Given the description of an element on the screen output the (x, y) to click on. 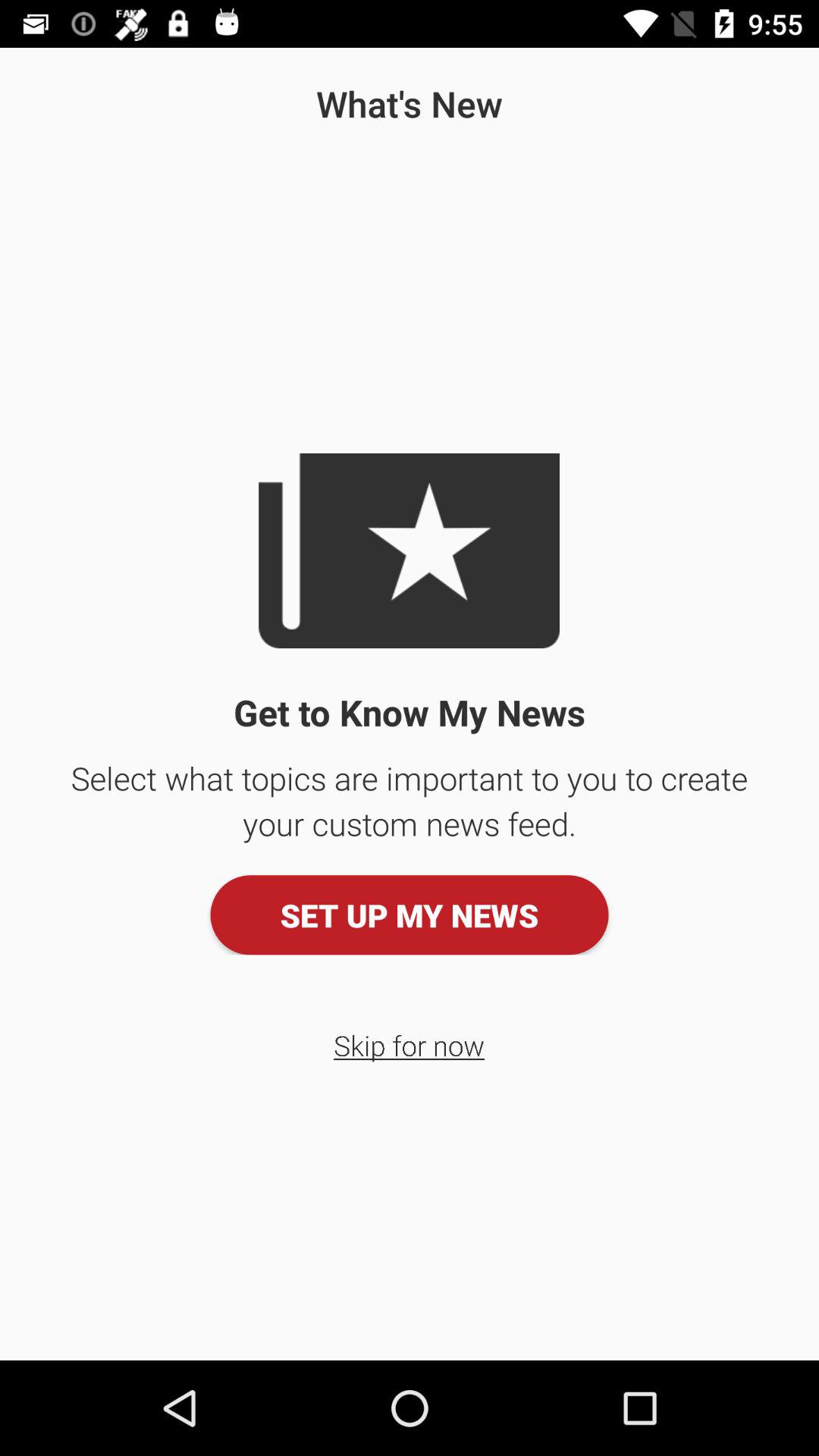
jump to the skip for now app (409, 1044)
